Given the description of an element on the screen output the (x, y) to click on. 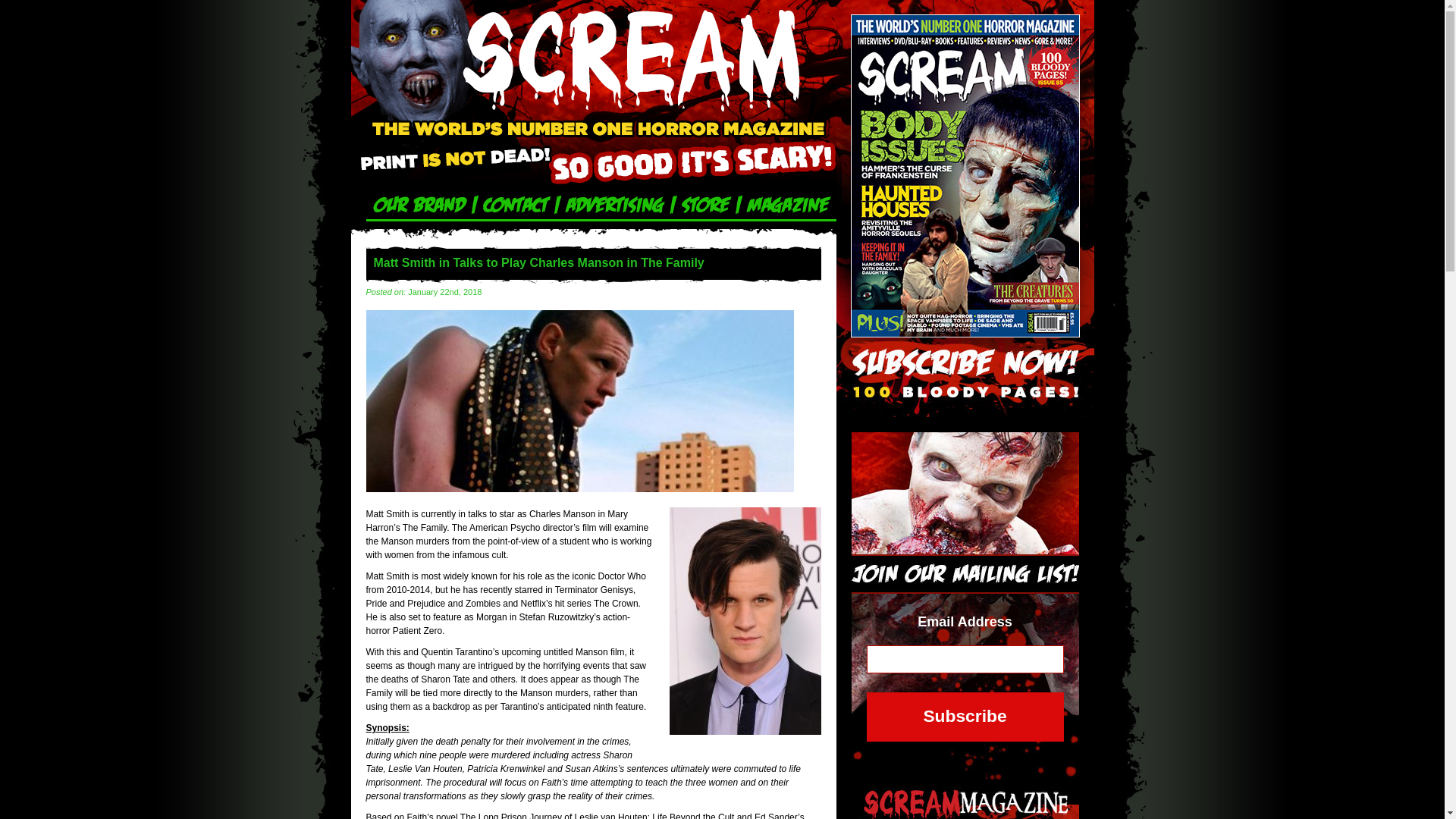
Subscribe (964, 717)
Subscribe (964, 717)
Matt Smith in Talks to Play Charles Manson in The Family (579, 489)
